Given the description of an element on the screen output the (x, y) to click on. 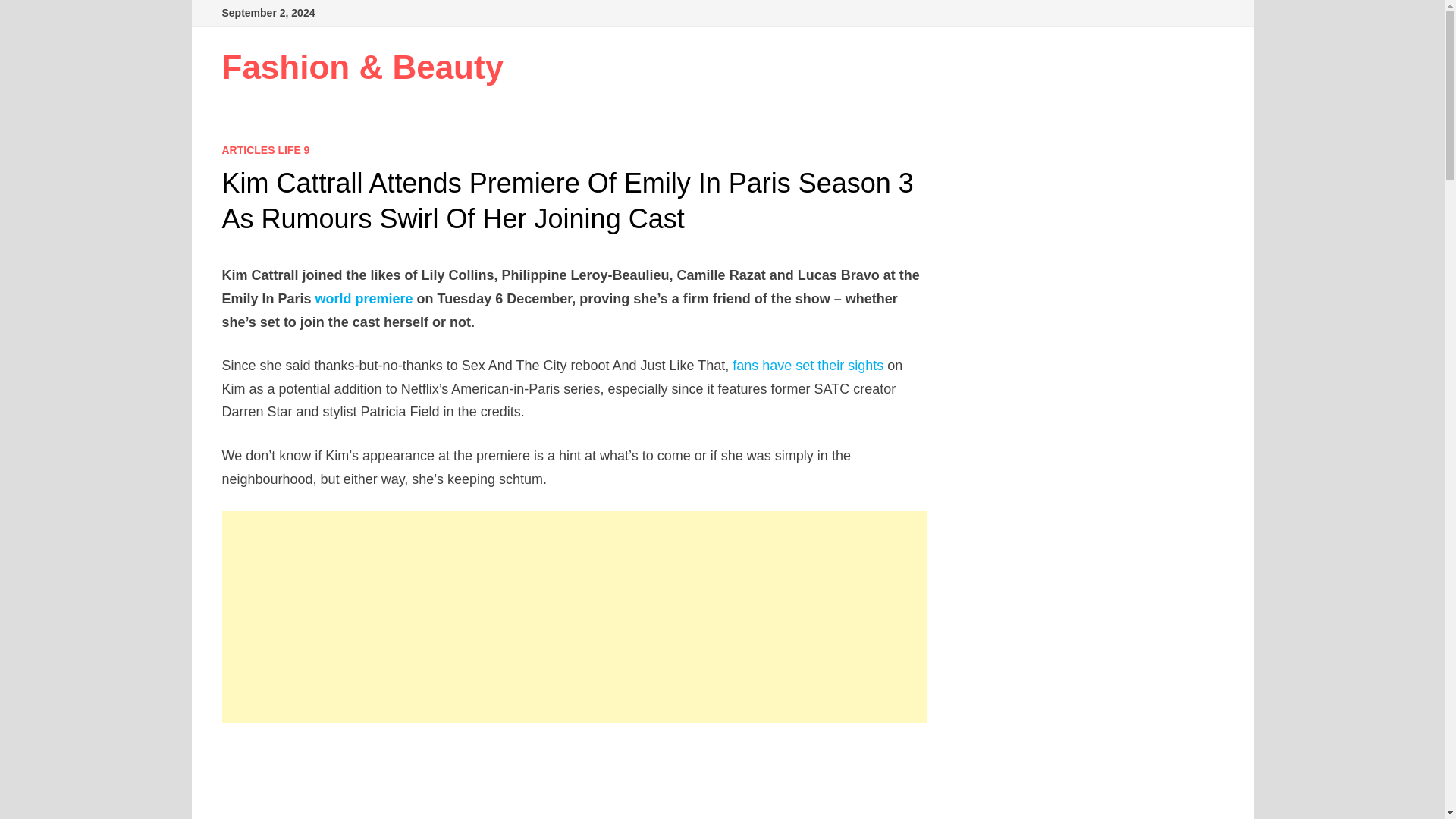
Advertisement (574, 781)
ARTICLES LIFE 9 (264, 150)
fans have set their sights (807, 365)
world premiere (364, 298)
